Given the description of an element on the screen output the (x, y) to click on. 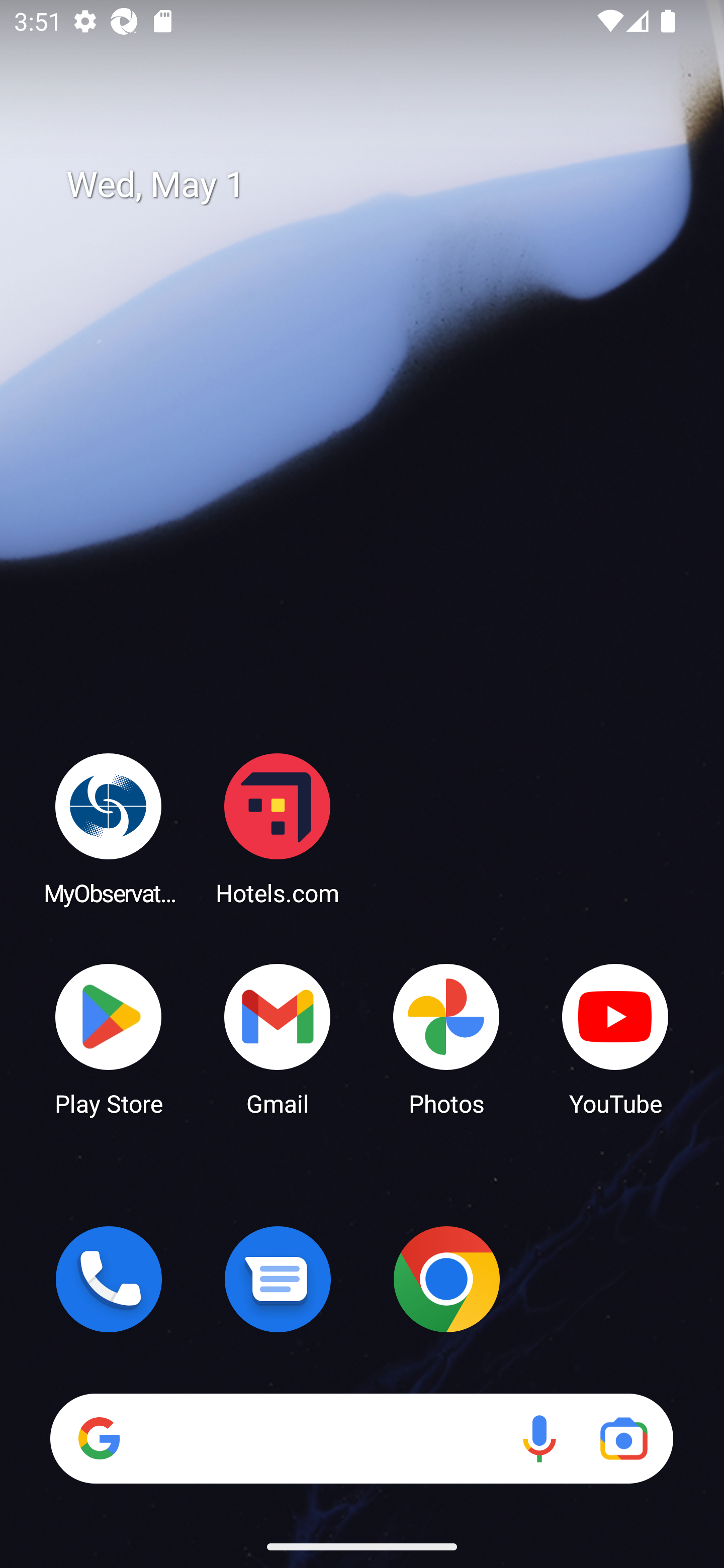
Wed, May 1 (375, 184)
MyObservatory (108, 828)
Hotels.com (277, 828)
Play Store (108, 1038)
Gmail (277, 1038)
Photos (445, 1038)
YouTube (615, 1038)
Phone (108, 1279)
Messages (277, 1279)
Chrome (446, 1279)
Search Voice search Google Lens (361, 1438)
Voice search (539, 1438)
Google Lens (623, 1438)
